Given the description of an element on the screen output the (x, y) to click on. 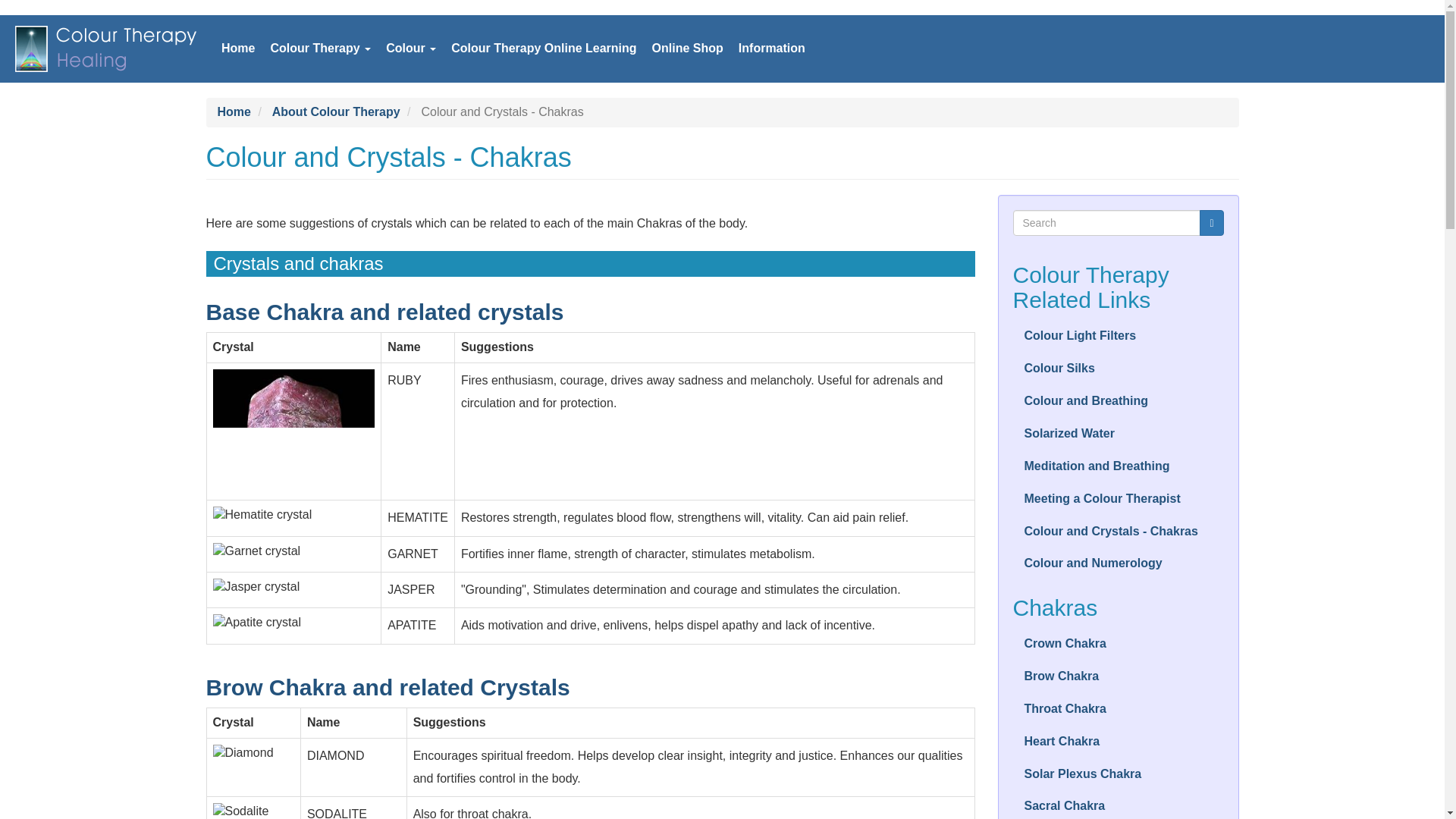
Colour Therapy Online Learning (543, 48)
Colour Therapy (320, 48)
Solarized Water (1118, 433)
About Colour and what it is (411, 48)
Information (771, 48)
Colour and Numerology (1118, 563)
Online Shop (687, 48)
Colour and Crystals - Chakras (1118, 531)
Colour Light Filters (1118, 336)
Enter the terms you wish to search for. (1107, 222)
Crown Chakra (1118, 644)
About Colour Therapy (336, 111)
Brow Chakra and related Crystals (388, 687)
Search (1211, 222)
Brow Chakra (1118, 676)
